Given the description of an element on the screen output the (x, y) to click on. 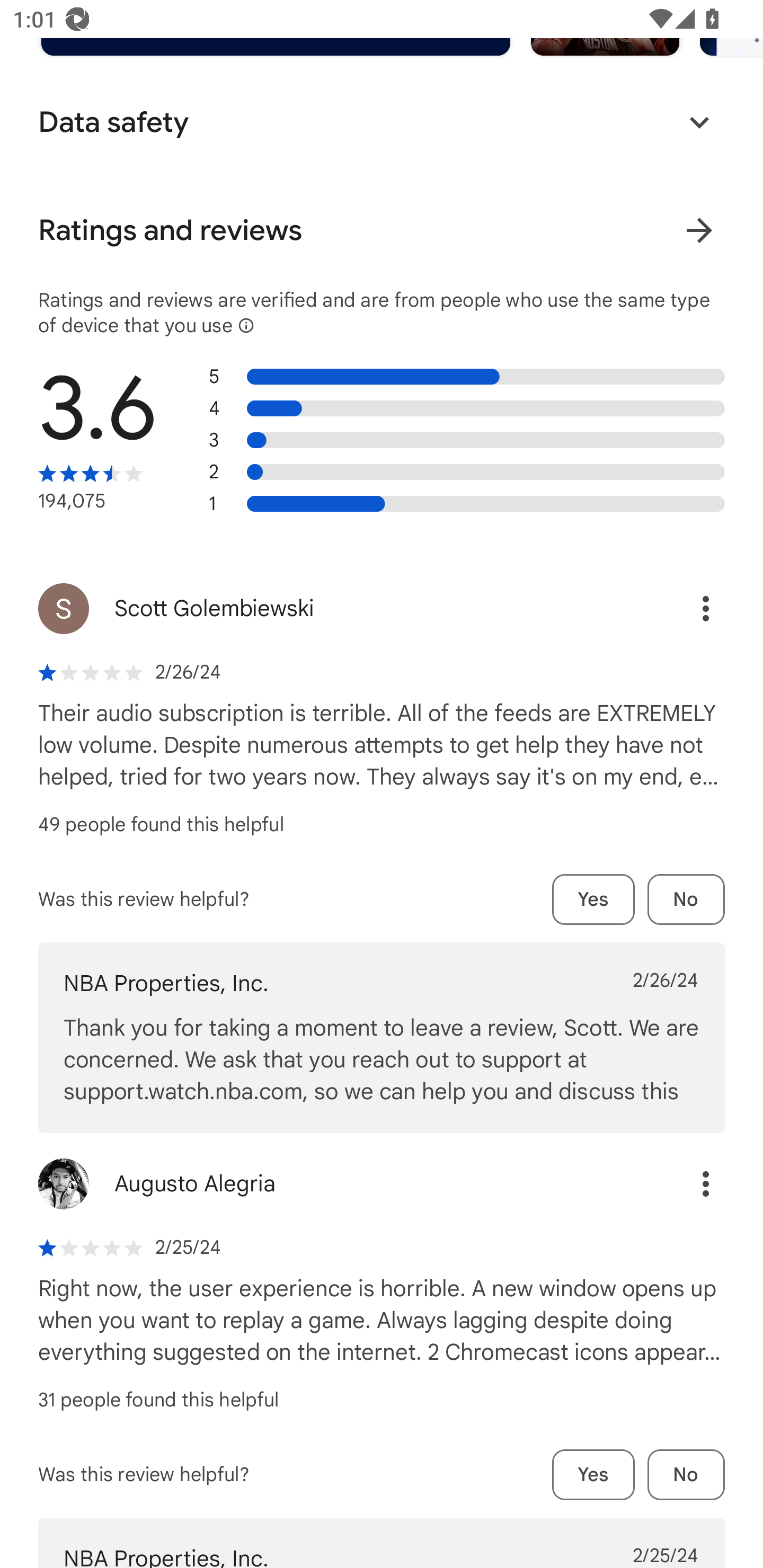
Data safety Expand (381, 122)
Expand (699, 121)
Ratings and reviews View all ratings and reviews (381, 230)
View all ratings and reviews (699, 230)
Options (686, 608)
Yes (593, 898)
No (685, 898)
Options (686, 1183)
Yes (593, 1474)
No (685, 1474)
